Given the description of an element on the screen output the (x, y) to click on. 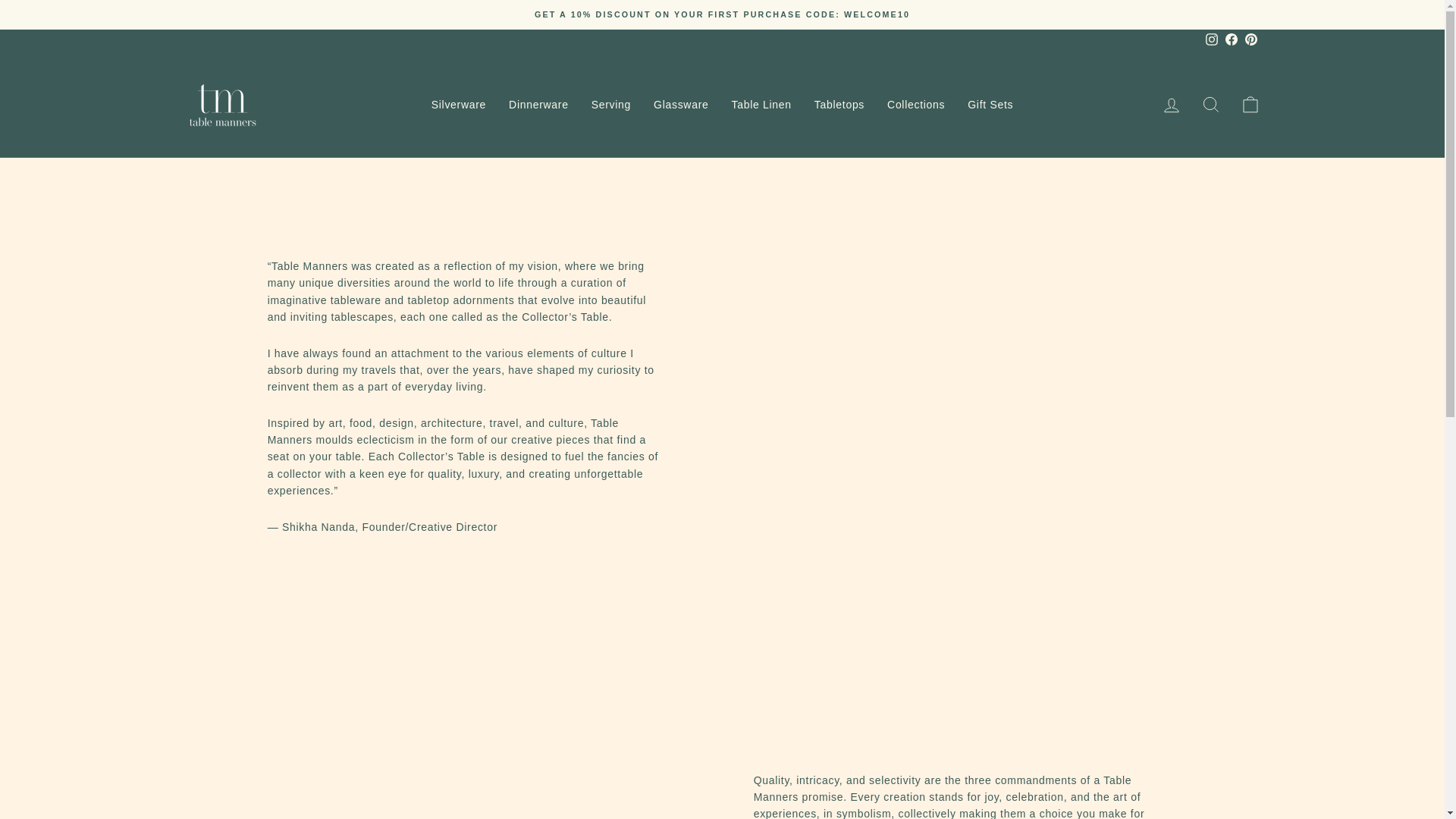
Instagram (1211, 40)
Table Manners on Instagram (1211, 40)
Pinterest (1250, 40)
Silverware (458, 103)
Table Manners on Facebook (1230, 40)
Table Manners on Pinterest (1250, 40)
Facebook (1230, 40)
